Given the description of an element on the screen output the (x, y) to click on. 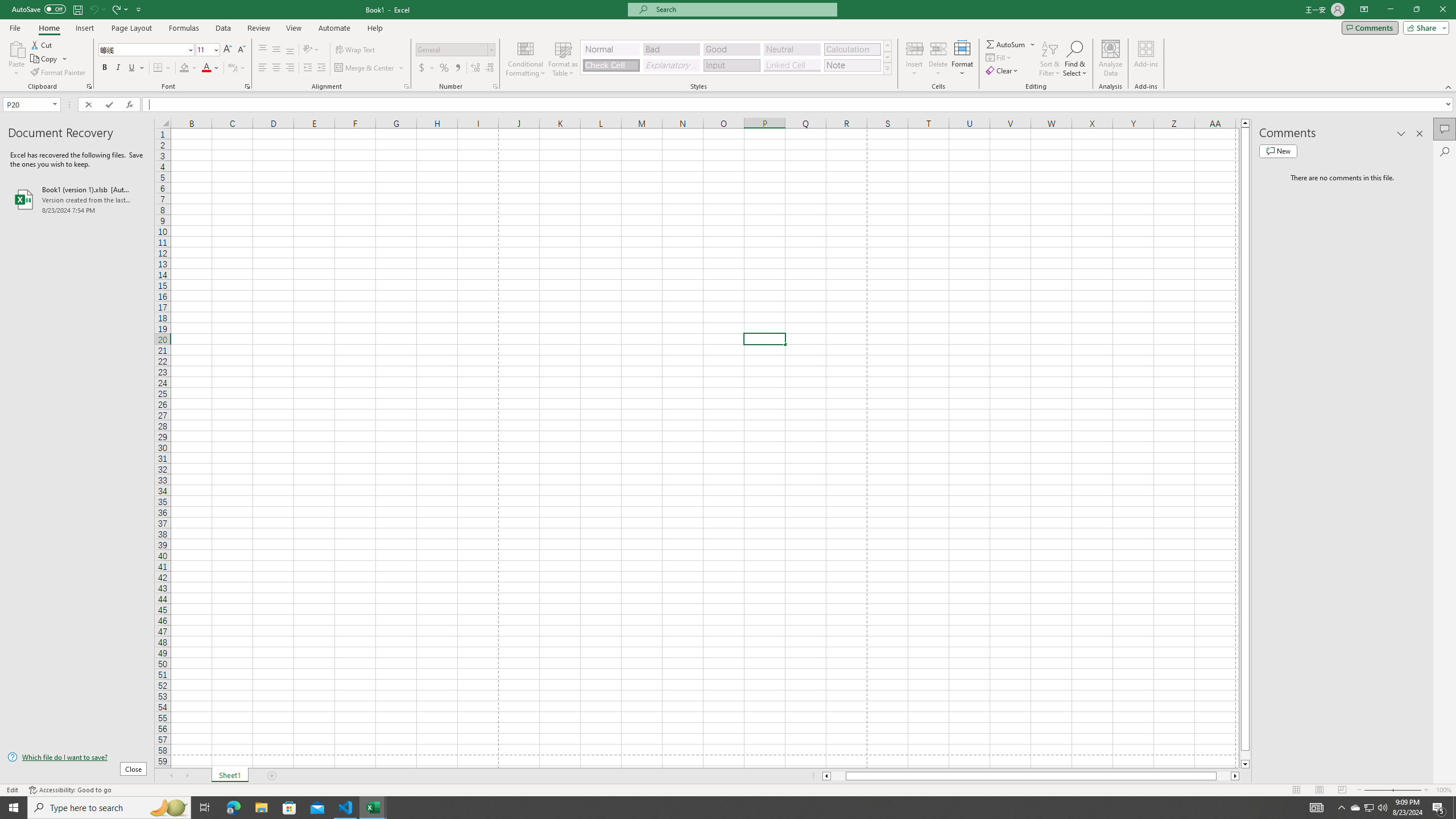
Zoom In (1426, 790)
Neutral (791, 49)
Increase Indent (320, 67)
Show Phonetic Field (236, 67)
Row Down (887, 56)
Delete (938, 58)
Sheet1 (229, 775)
Normal (1296, 790)
Line down (1245, 764)
Wrap Text (355, 49)
Scroll Right (187, 775)
Linked Cell (791, 65)
Italic (118, 67)
